Given the description of an element on the screen output the (x, y) to click on. 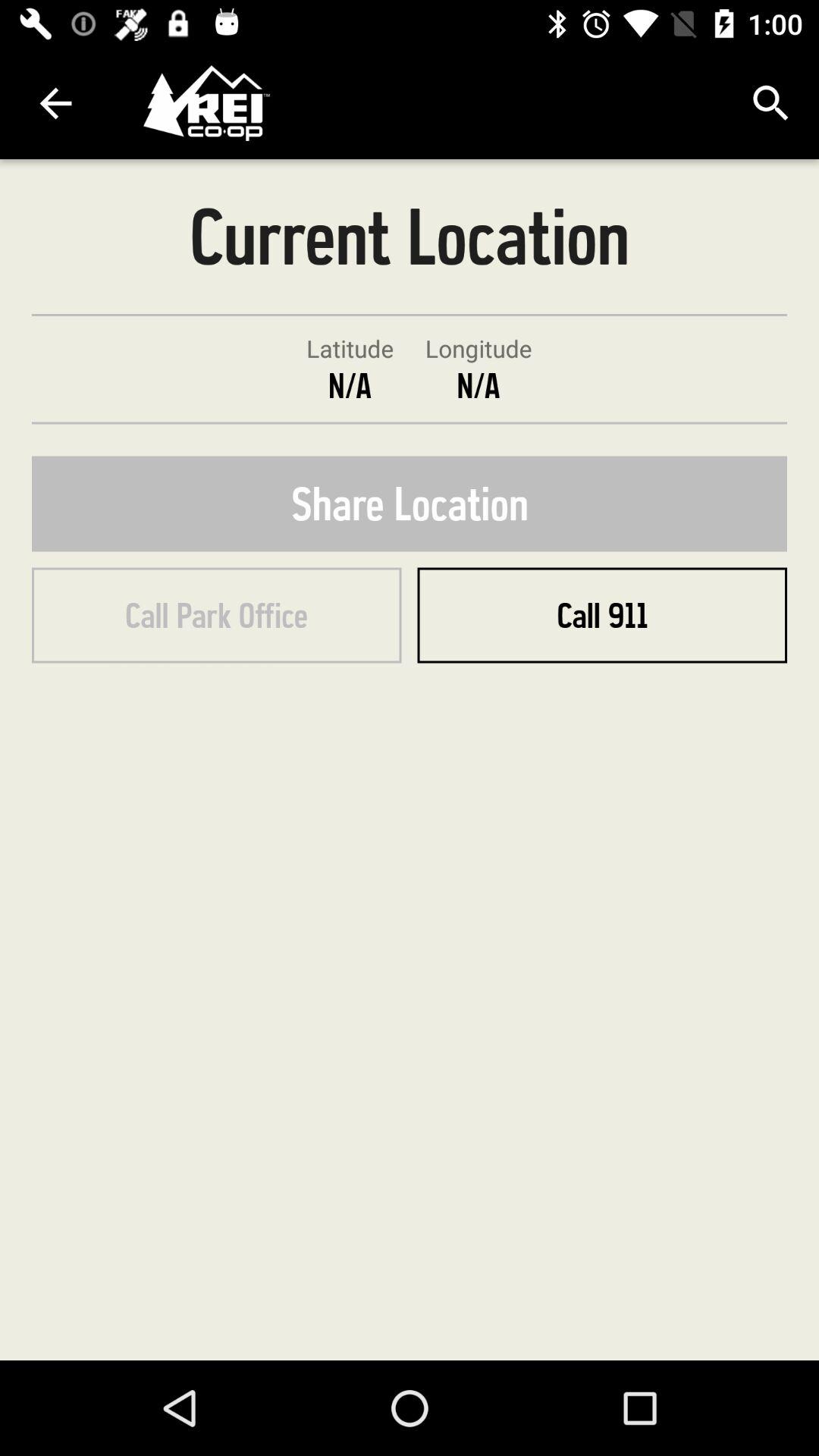
choose the item below the share location item (602, 615)
